Given the description of an element on the screen output the (x, y) to click on. 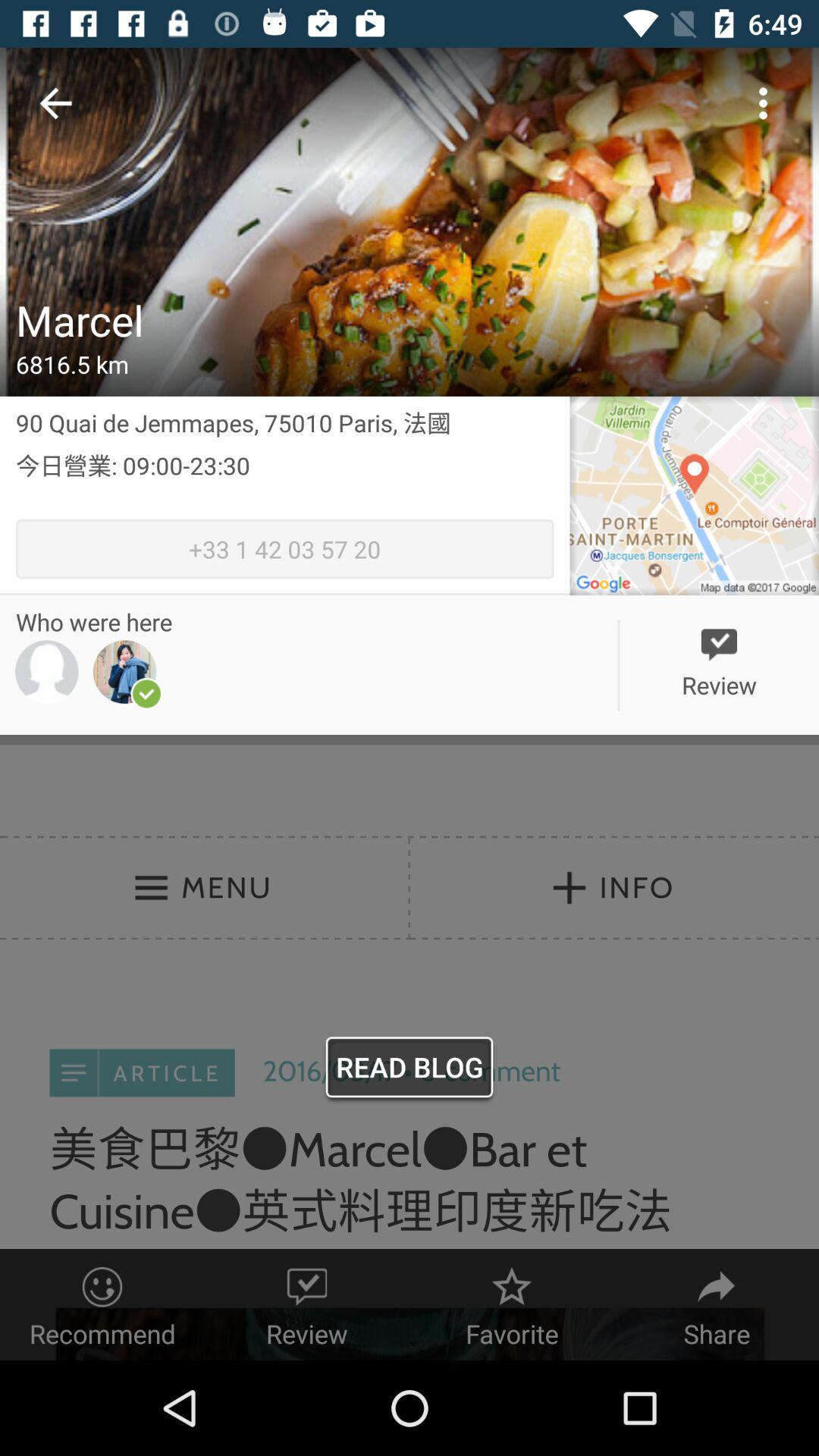
tap the read blog (409, 1071)
